Given the description of an element on the screen output the (x, y) to click on. 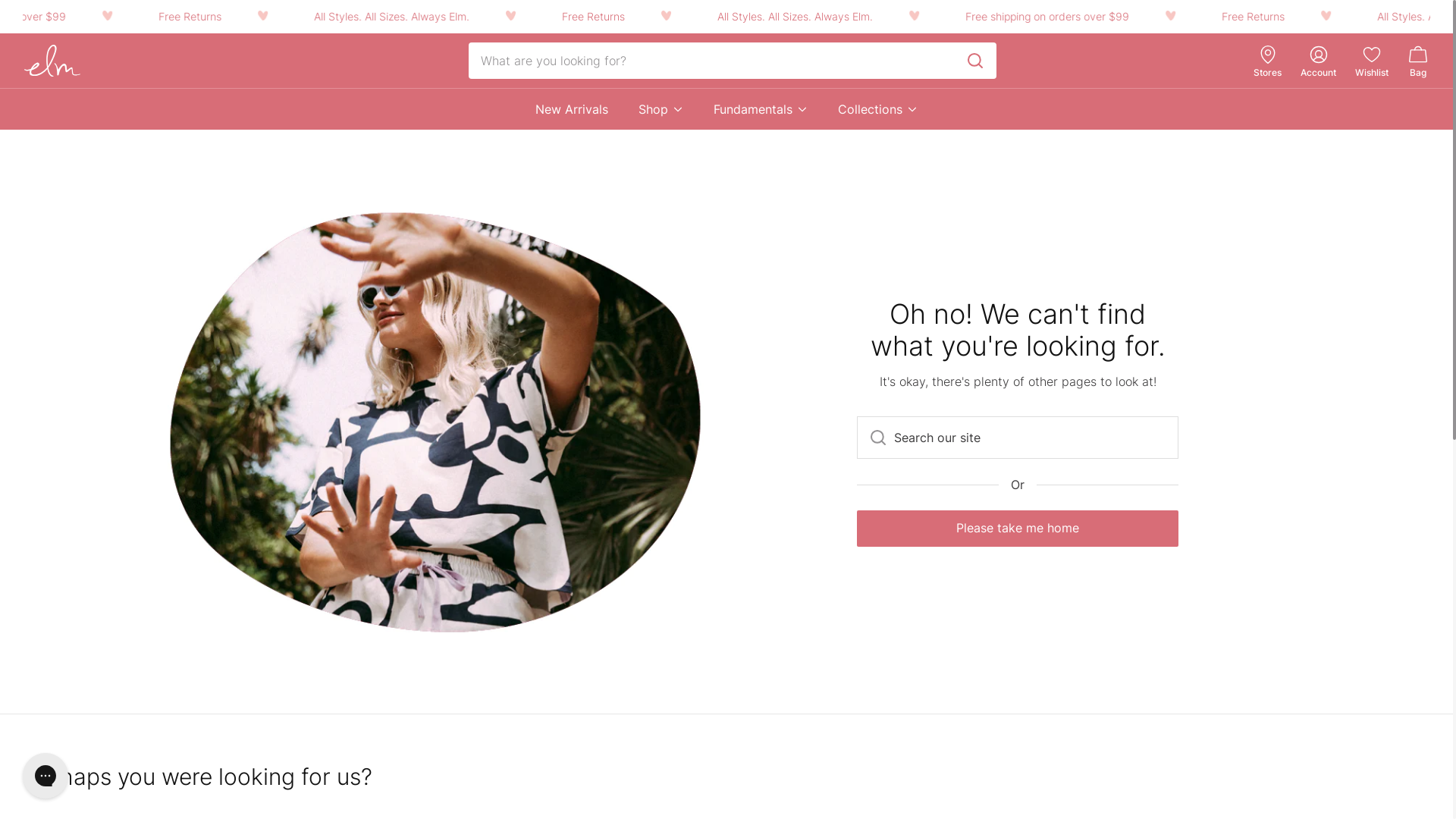
Wishlist Element type: text (1371, 72)
New Arrivals Element type: text (571, 108)
Location Element type: hover (1267, 54)
Account Dashboard Element type: hover (1317, 54)
Please take me home Element type: text (1017, 528)
Account Element type: text (1318, 72)
Bag Element type: text (1417, 60)
Stores Element type: text (1267, 72)
Elm Lifestyle Element type: hover (52, 60)
Collections
      
     Element type: text (877, 108)
Fundamentals
      
     Element type: text (760, 108)
Shop
      
     Element type: text (660, 108)
Gorgias live chat messenger Element type: hover (45, 775)
